Given the description of an element on the screen output the (x, y) to click on. 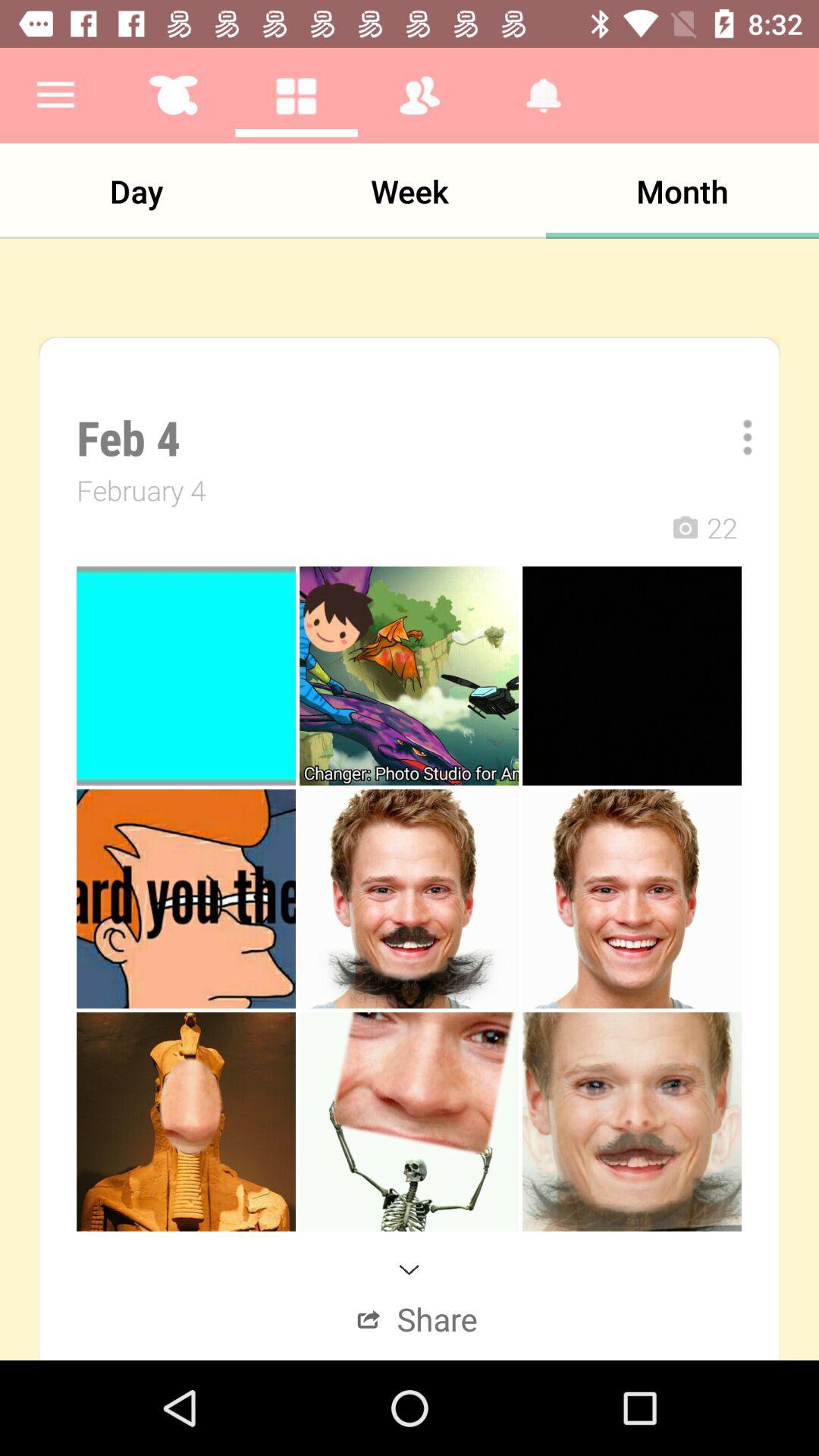
click for more options (737, 437)
